Given the description of an element on the screen output the (x, y) to click on. 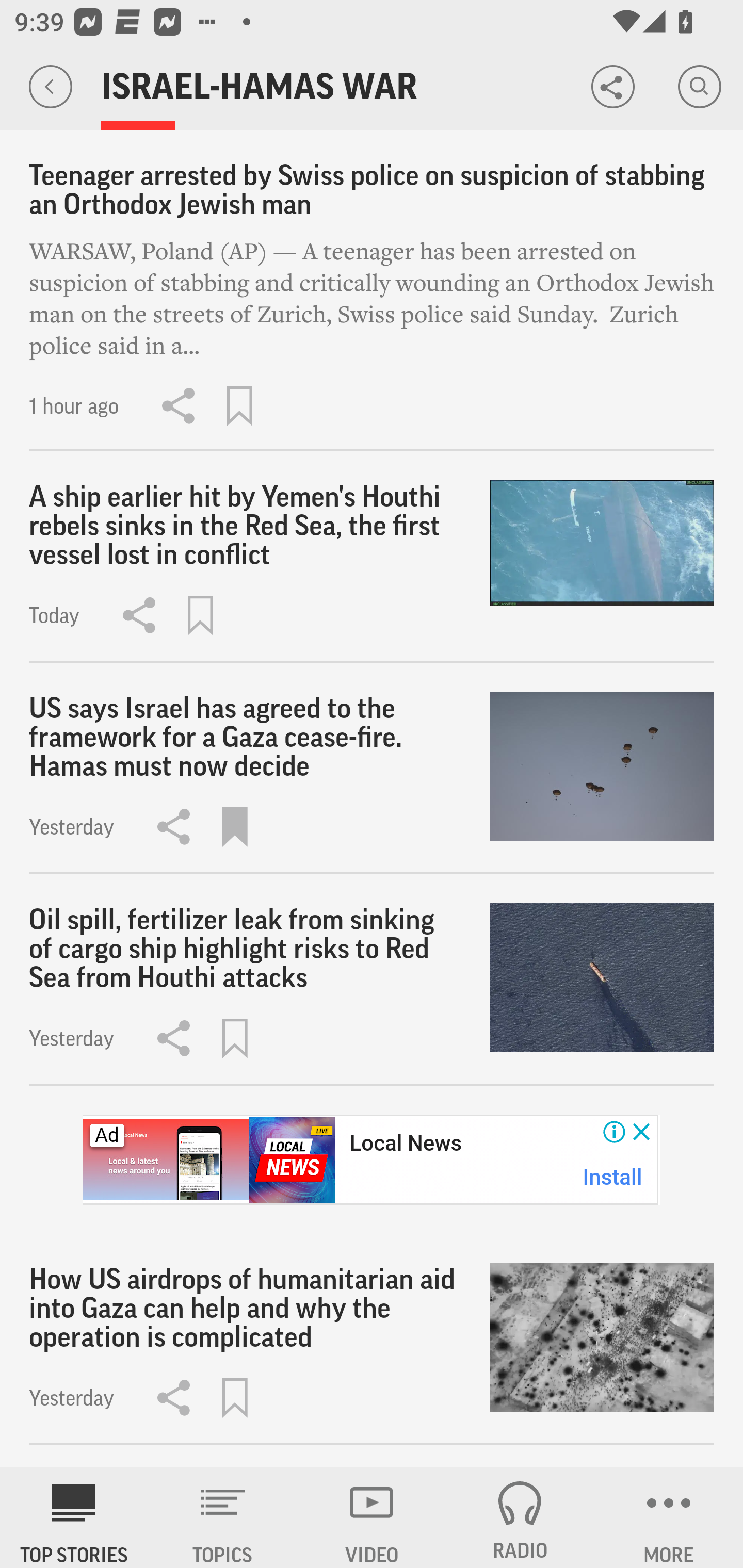
Local News (405, 1142)
Install (613, 1177)
AP News TOP STORIES (74, 1517)
TOPICS (222, 1517)
VIDEO (371, 1517)
RADIO (519, 1517)
MORE (668, 1517)
